Given the description of an element on the screen output the (x, y) to click on. 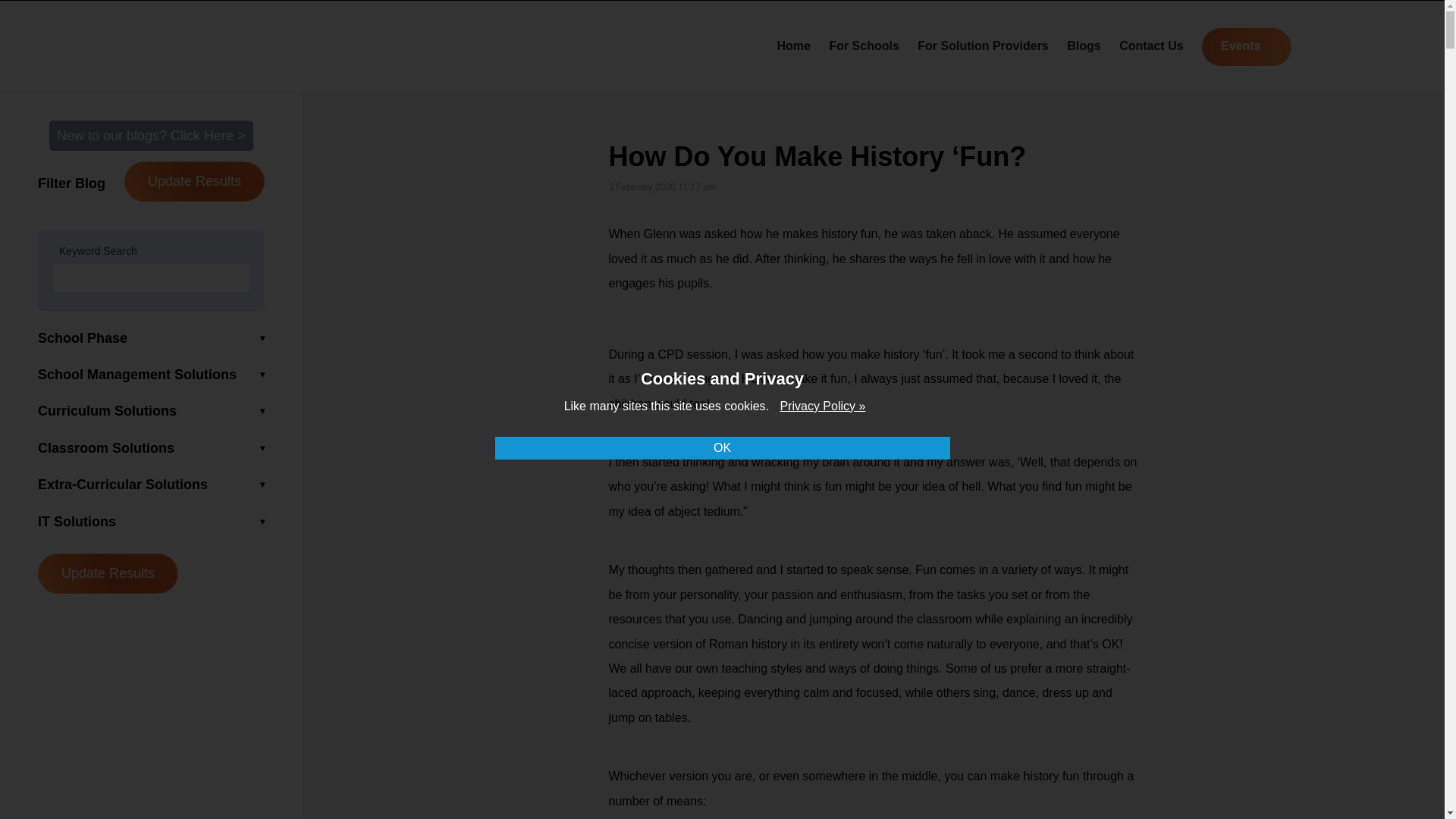
Update Results (193, 181)
Nexus Education (213, 43)
Contact Us (1151, 46)
Events (1246, 46)
Home (792, 46)
Blogs (1083, 46)
For Solution Providers (982, 46)
Update Results (107, 573)
Cookie Notice (821, 405)
For Schools (863, 46)
